Given the description of an element on the screen output the (x, y) to click on. 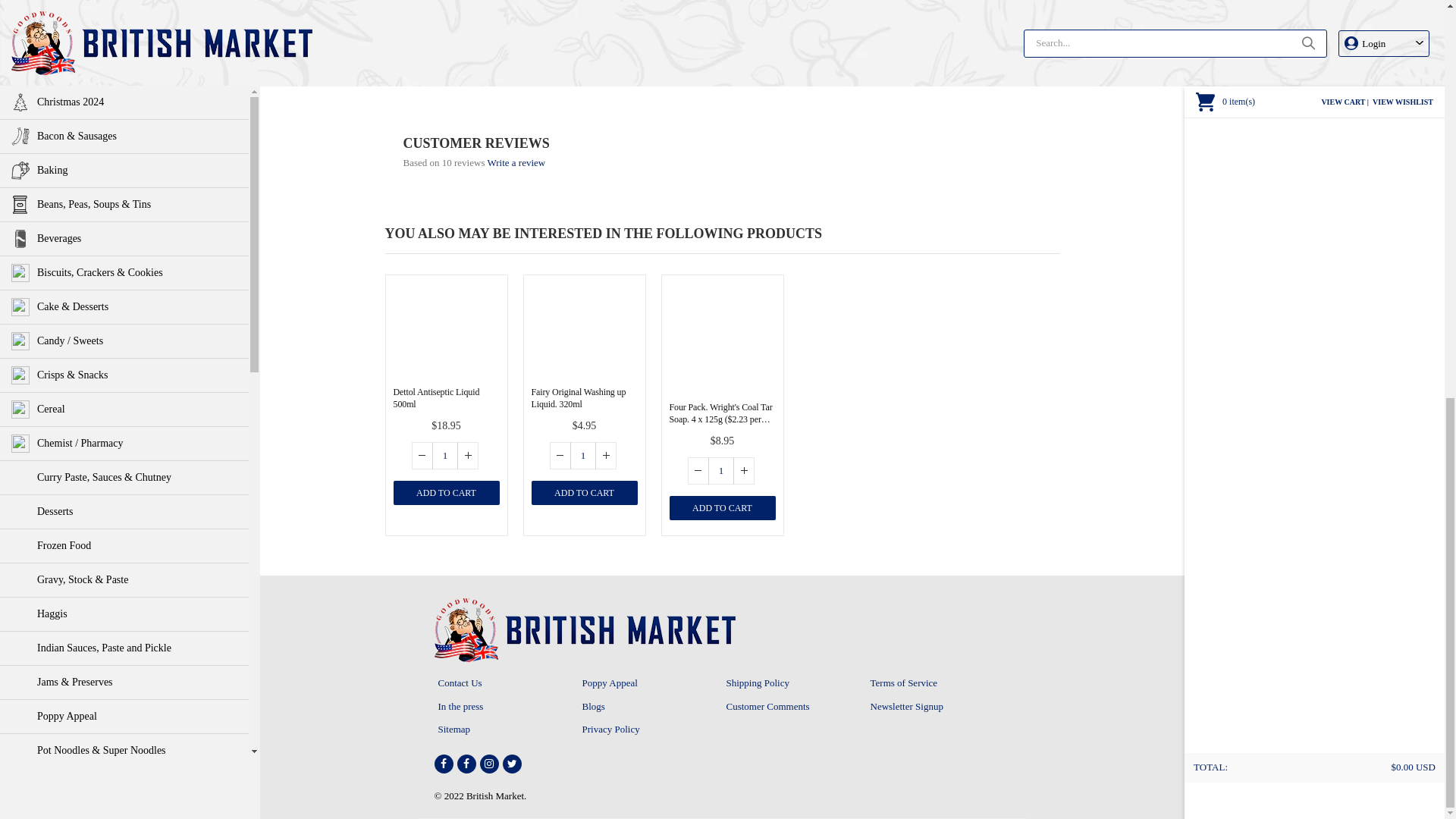
Add to wishlist (770, 288)
1 (582, 455)
1 (720, 470)
Add to wishlist (631, 288)
Add to wishlist (493, 288)
1 (772, 42)
1 (445, 455)
